Given the description of an element on the screen output the (x, y) to click on. 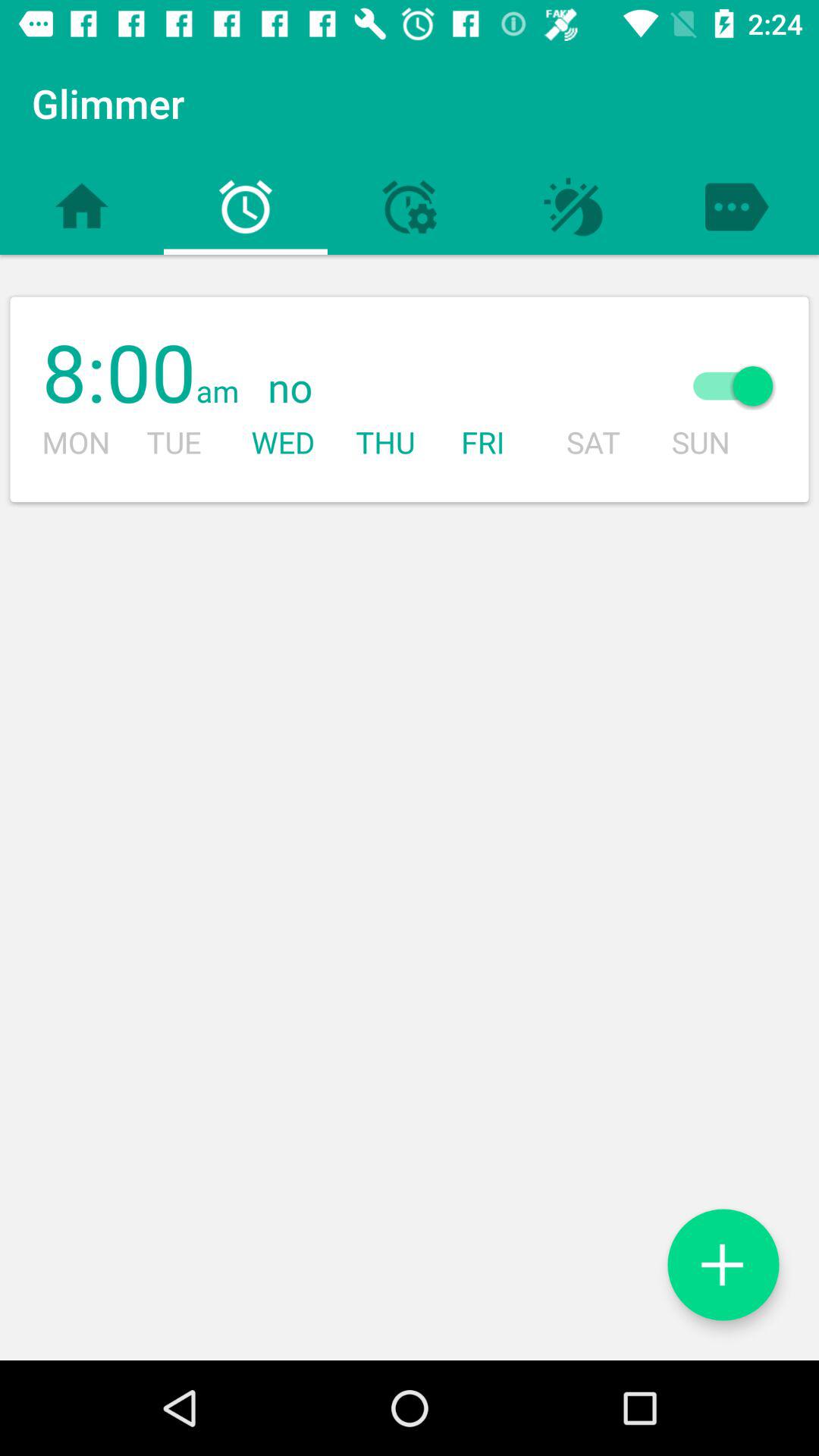
flip until 8:00 item (119, 375)
